Given the description of an element on the screen output the (x, y) to click on. 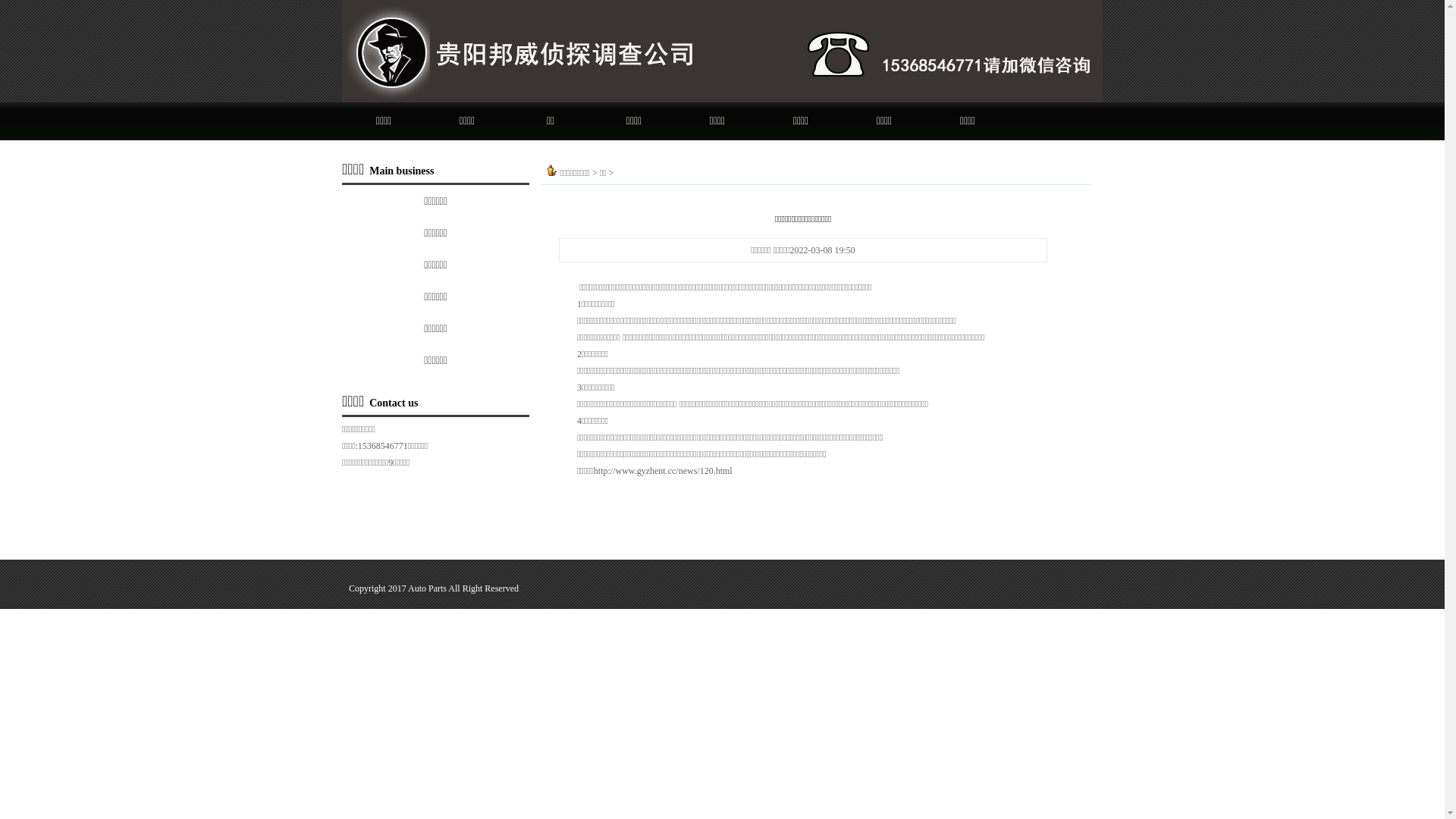
http://www.gyzhent.cc/news/120.html Element type: text (662, 470)
